Given the description of an element on the screen output the (x, y) to click on. 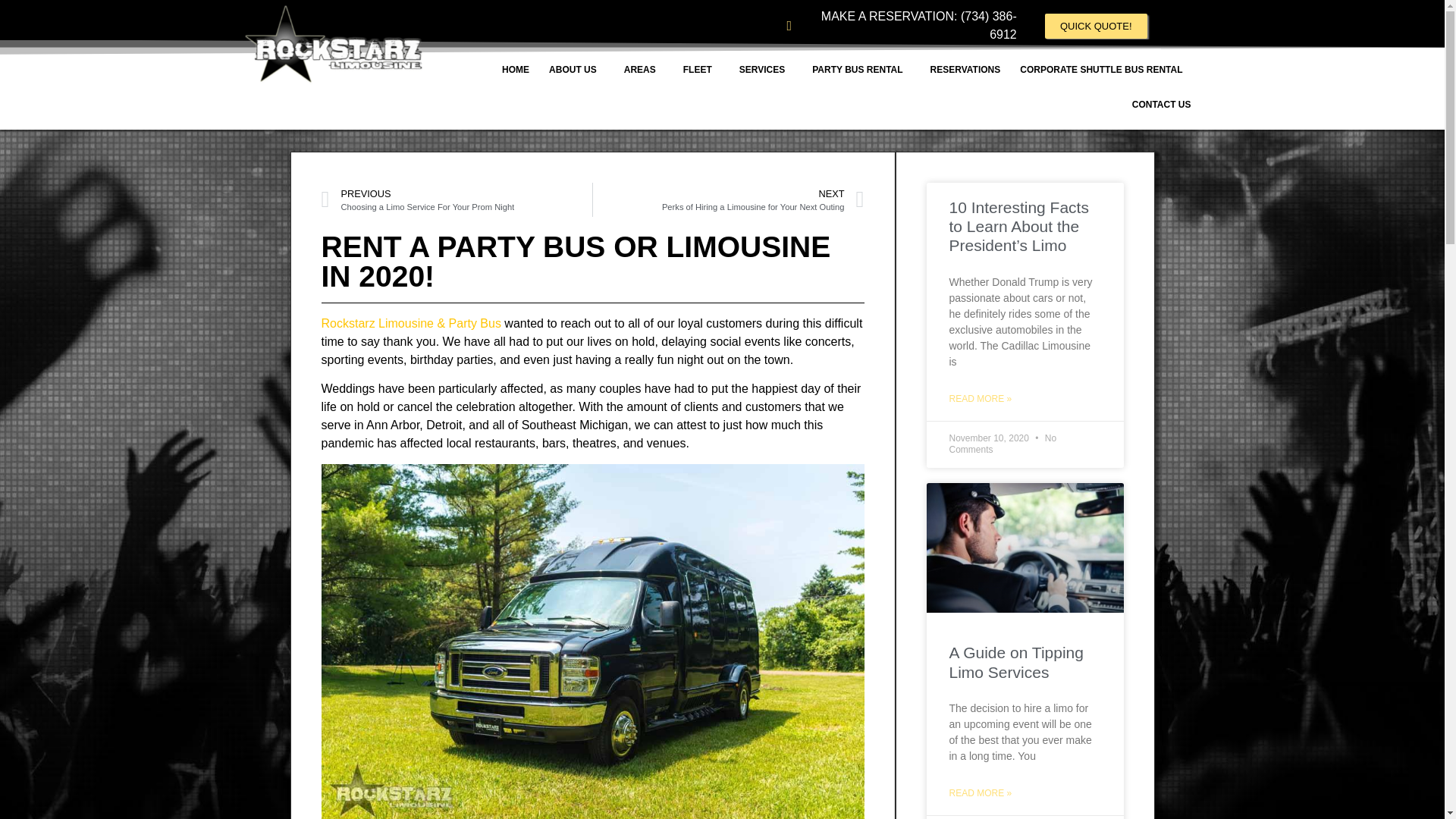
FLEET (701, 69)
Reservations (965, 69)
About Us (576, 69)
AREAS (643, 69)
ABOUT US (576, 69)
Contact Us (1160, 104)
Home (515, 69)
HOME (515, 69)
Fleet (701, 69)
Services (766, 69)
Areas (643, 69)
QUICK QUOTE! (1096, 25)
